Given the description of an element on the screen output the (x, y) to click on. 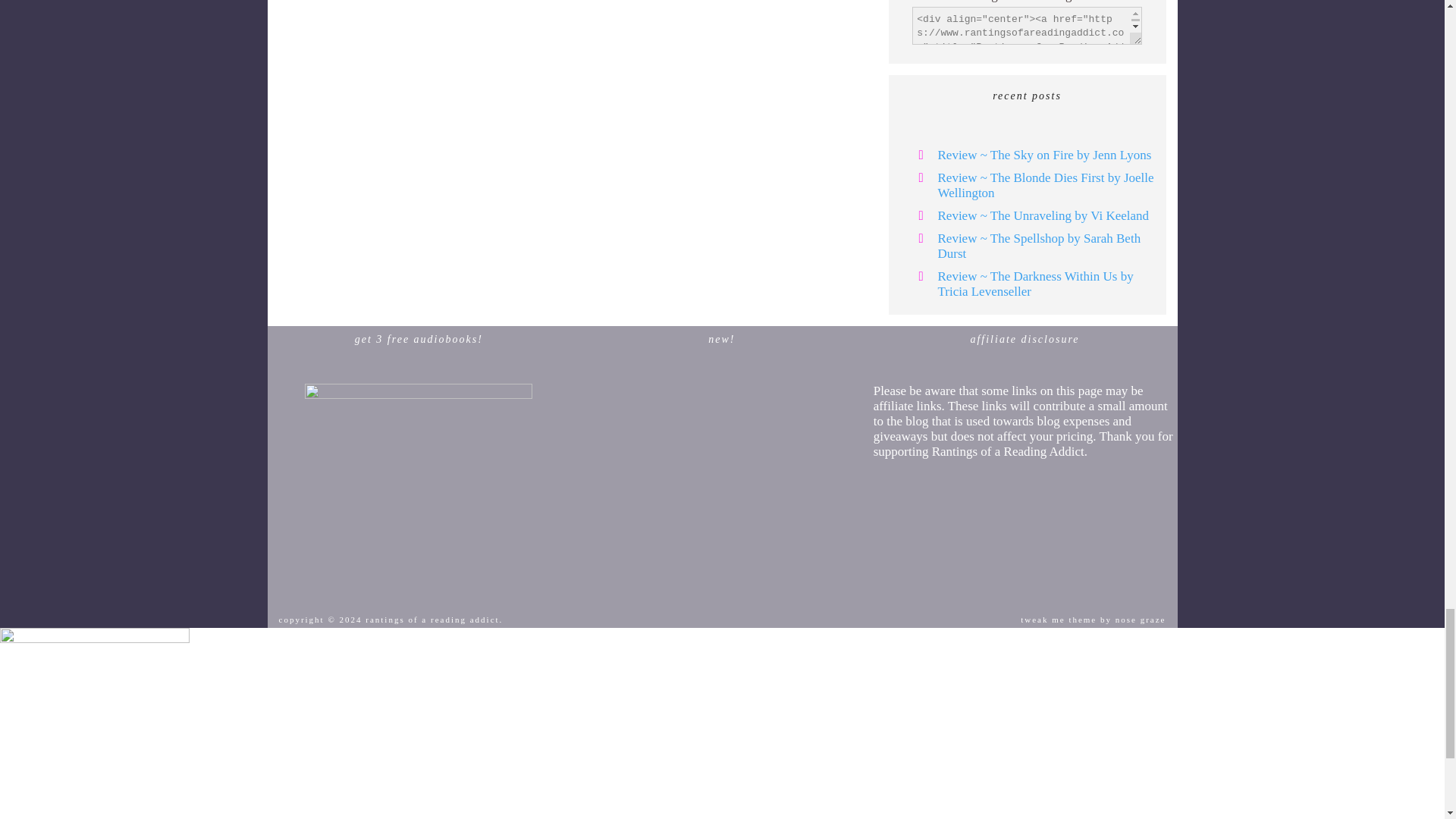
Rantings of a Reading Addict (1026, 1)
